Given the description of an element on the screen output the (x, y) to click on. 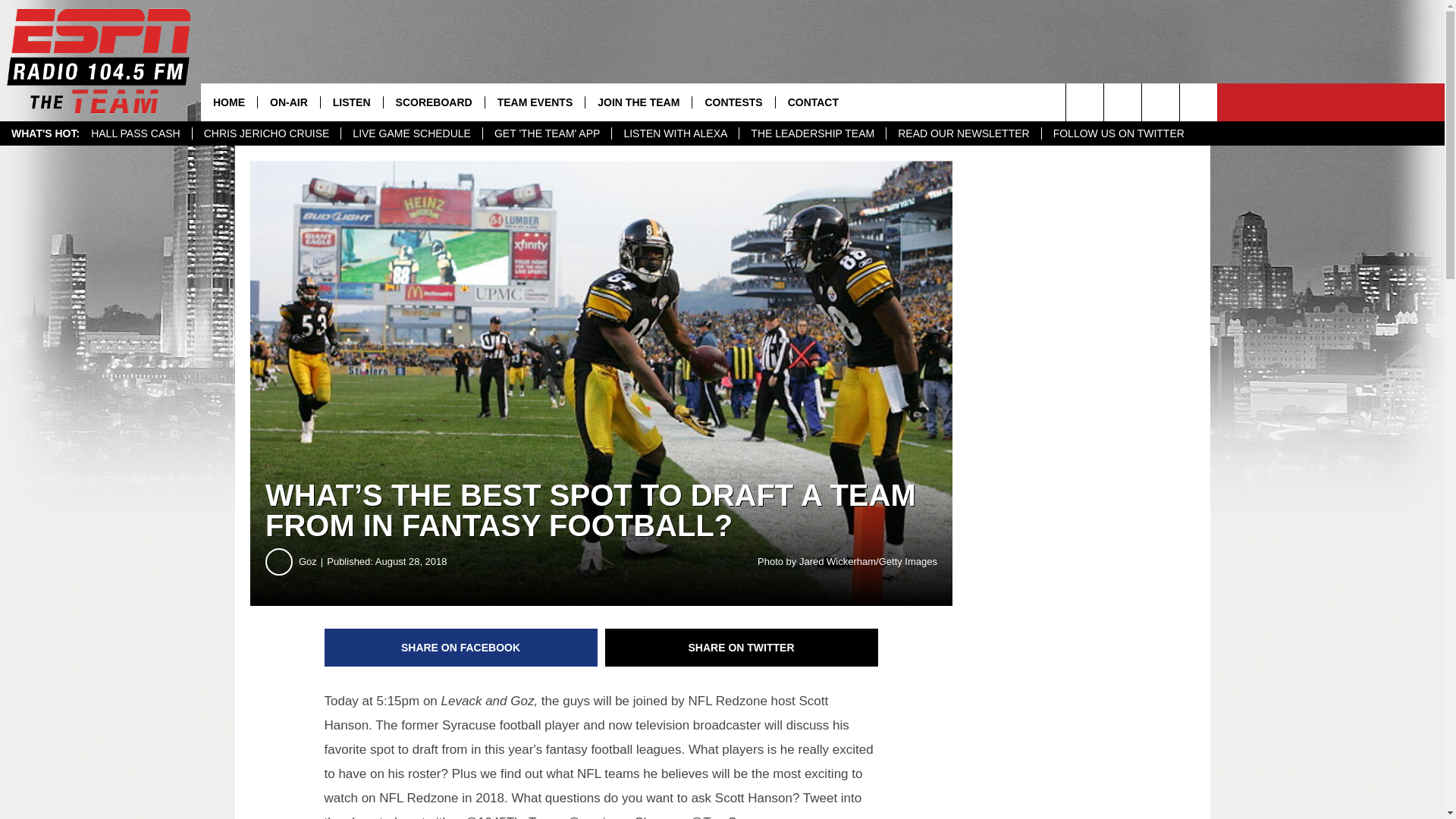
GET 'THE TEAM' APP (546, 133)
LISTEN WITH ALEXA (674, 133)
LIVE GAME SCHEDULE (410, 133)
ON-AIR (288, 102)
CONTACT (812, 102)
Share on Facebook (460, 647)
Share on Twitter (741, 647)
TEAM EVENTS (534, 102)
CONTESTS (732, 102)
HALL PASS CASH (136, 133)
